Given the description of an element on the screen output the (x, y) to click on. 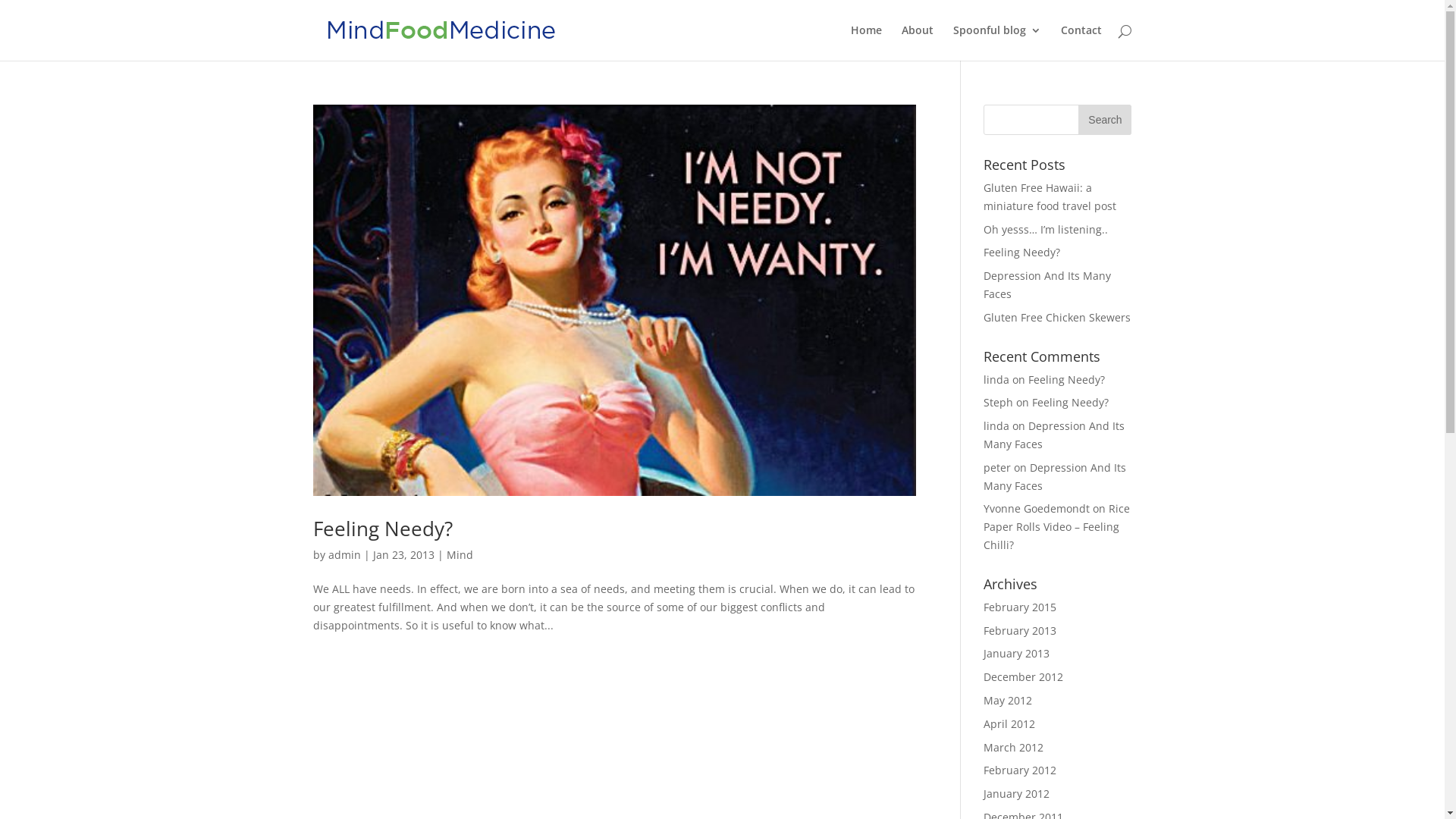
Depression And Its Many Faces Element type: text (1054, 476)
February 2013 Element type: text (1019, 630)
Feeling Needy? Element type: text (1070, 402)
May 2012 Element type: text (1007, 700)
Feeling Needy? Element type: text (1021, 251)
February 2015 Element type: text (1019, 606)
About Element type: text (916, 42)
Home Element type: text (865, 42)
Depression And Its Many Faces Element type: text (1053, 434)
Gluten Free Chicken Skewers Element type: text (1056, 317)
February 2012 Element type: text (1019, 769)
Gluten Free Hawaii: a miniature food travel post Element type: text (1049, 196)
Mind Element type: text (458, 554)
January 2013 Element type: text (1016, 653)
Contact Element type: text (1080, 42)
Feeling Needy? Element type: text (381, 528)
December 2012 Element type: text (1023, 676)
Search Element type: text (1104, 119)
January 2012 Element type: text (1016, 793)
April 2012 Element type: text (1009, 723)
Feeling Needy? Element type: text (1066, 379)
admin Element type: text (343, 554)
March 2012 Element type: text (1013, 747)
Spoonful blog Element type: text (996, 42)
Depression And Its Many Faces Element type: text (1046, 284)
